Given the description of an element on the screen output the (x, y) to click on. 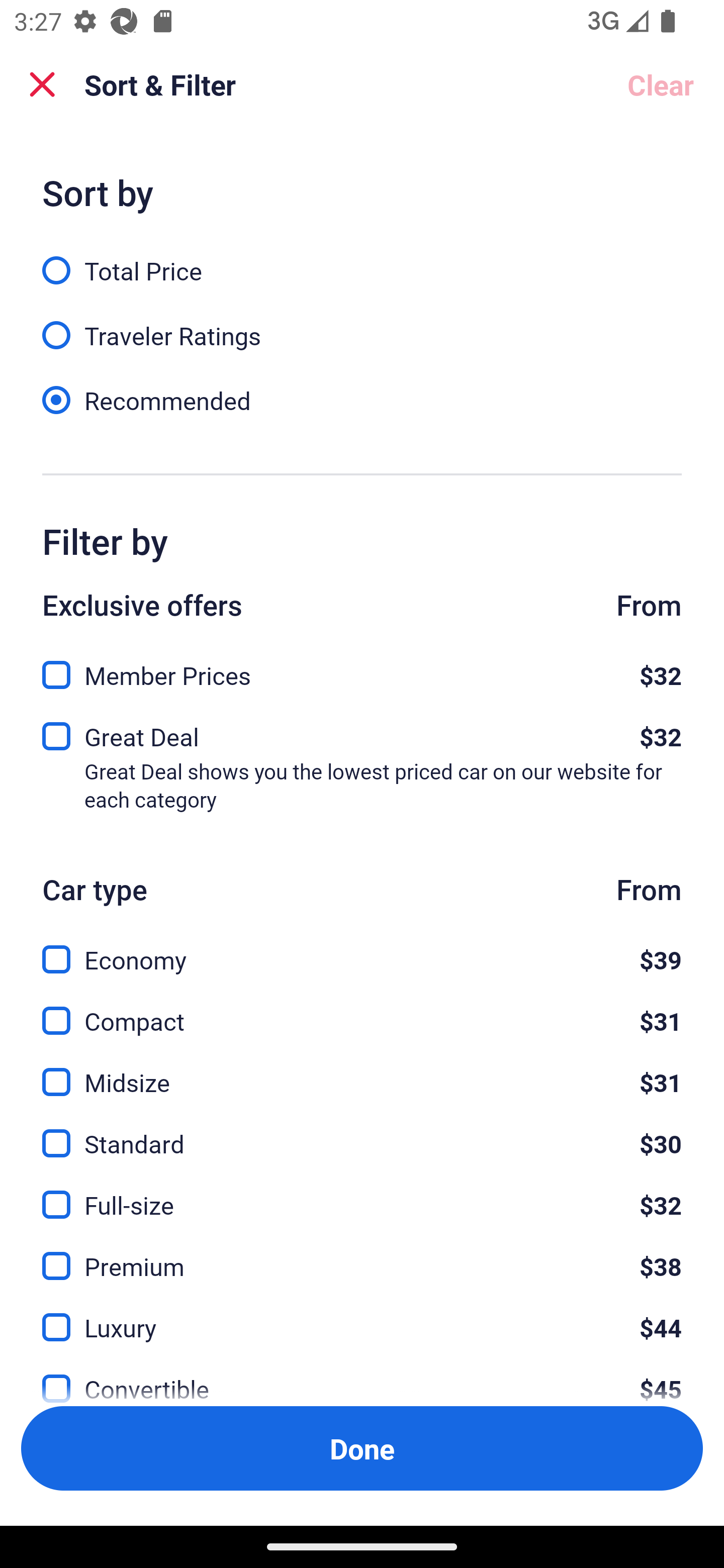
Close Sort and Filter (42, 84)
Clear (660, 84)
Total Price (361, 259)
Traveler Ratings (361, 324)
Member Prices, $32 Member Prices $32 (361, 669)
Economy, $39 Economy $39 (361, 947)
Compact, $31 Compact $31 (361, 1008)
Midsize, $31 Midsize $31 (361, 1070)
Standard, $30 Standard $30 (361, 1132)
Full-size, $32 Full-size $32 (361, 1193)
Premium, $38 Premium $38 (361, 1254)
Luxury, $44 Luxury $44 (361, 1315)
Convertible, $45 Convertible $45 (361, 1376)
Apply and close Sort and Filter Done (361, 1448)
